Given the description of an element on the screen output the (x, y) to click on. 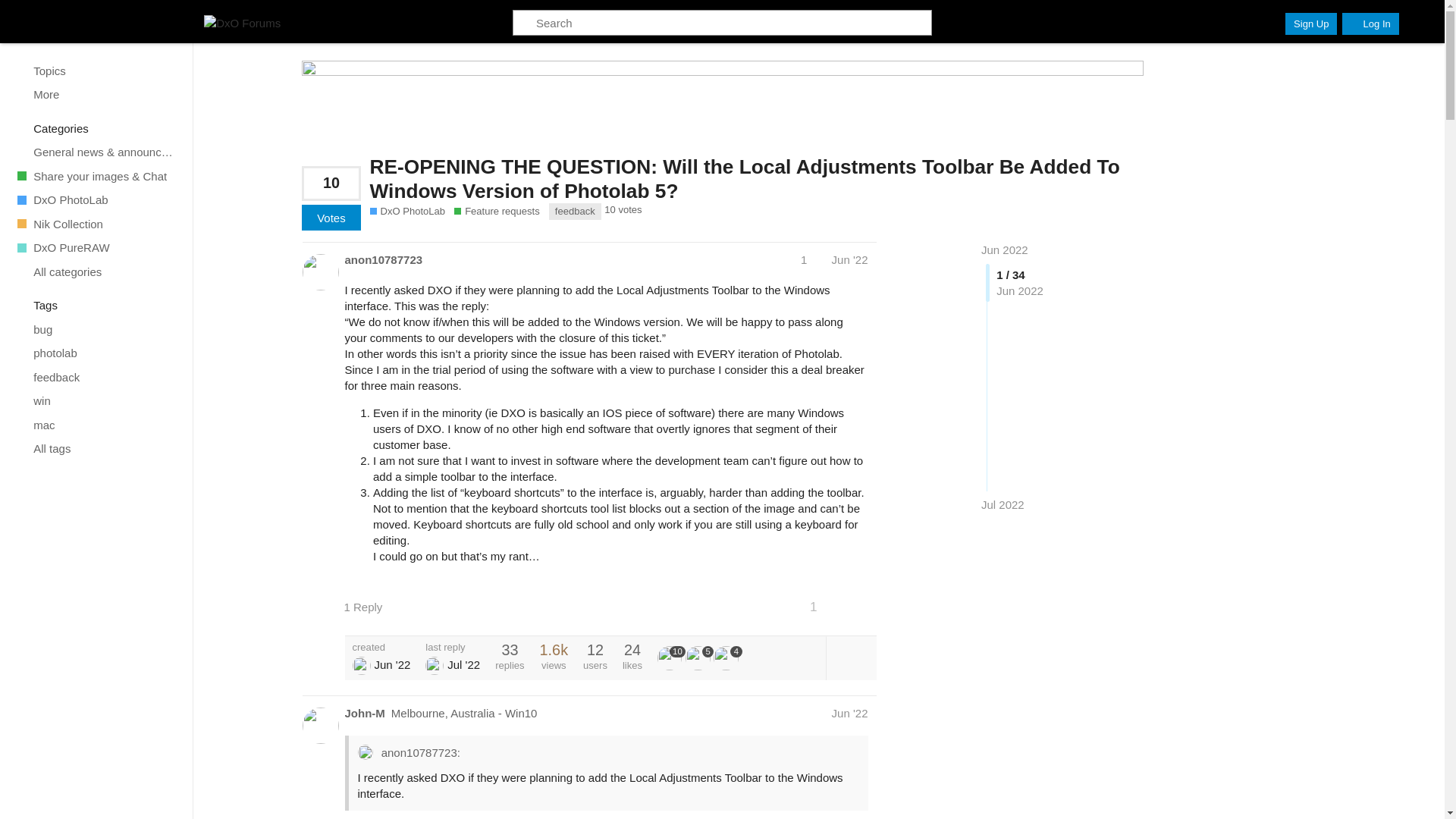
Toggle section (96, 305)
Nik Collection (96, 223)
Keyboard Shortcuts (173, 805)
photolab (96, 353)
Votes (331, 217)
Topics (96, 70)
All tags (96, 448)
Sign Up (1310, 24)
